Given the description of an element on the screen output the (x, y) to click on. 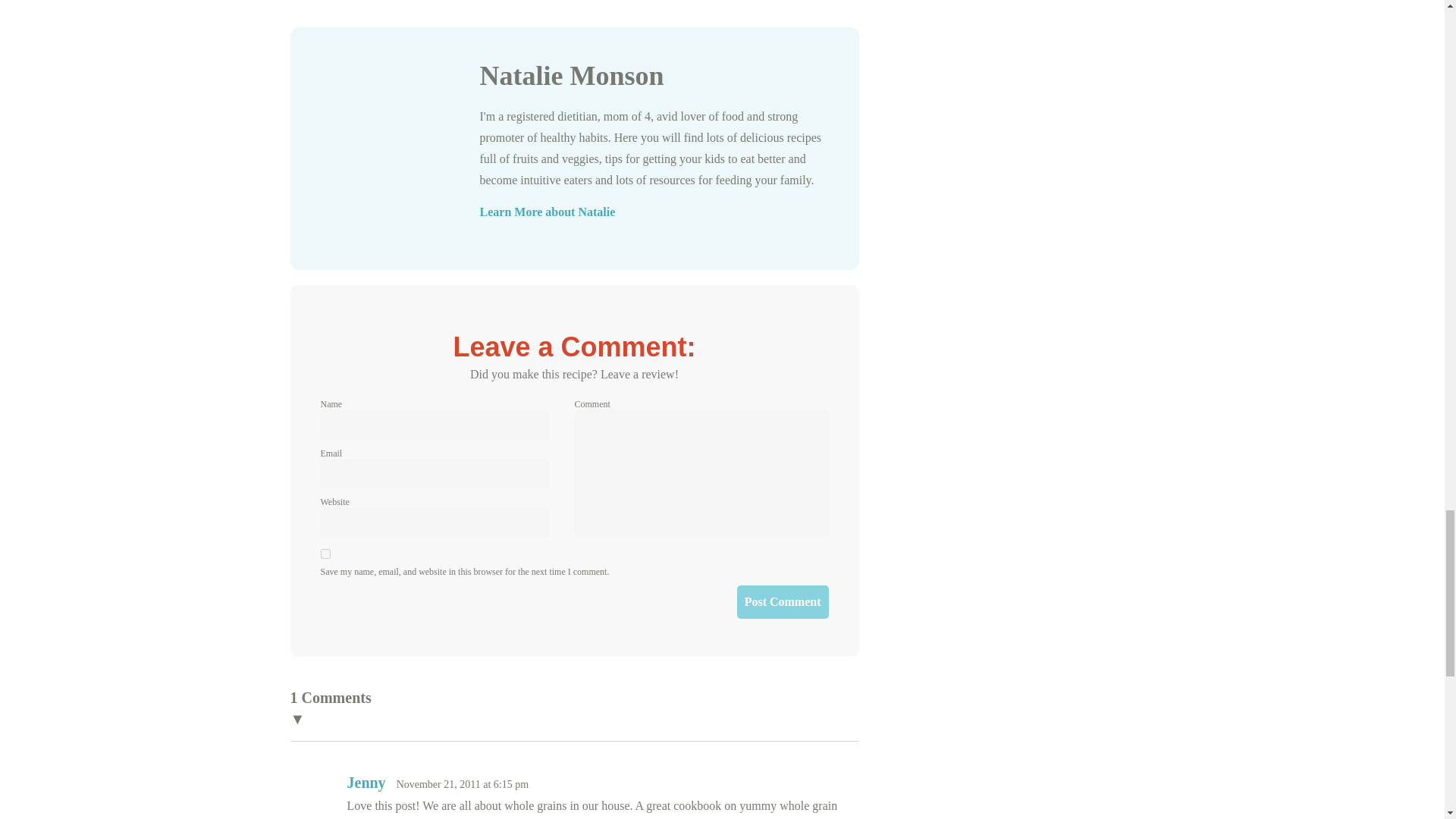
Post Comment (782, 602)
yes (325, 553)
